Given the description of an element on the screen output the (x, y) to click on. 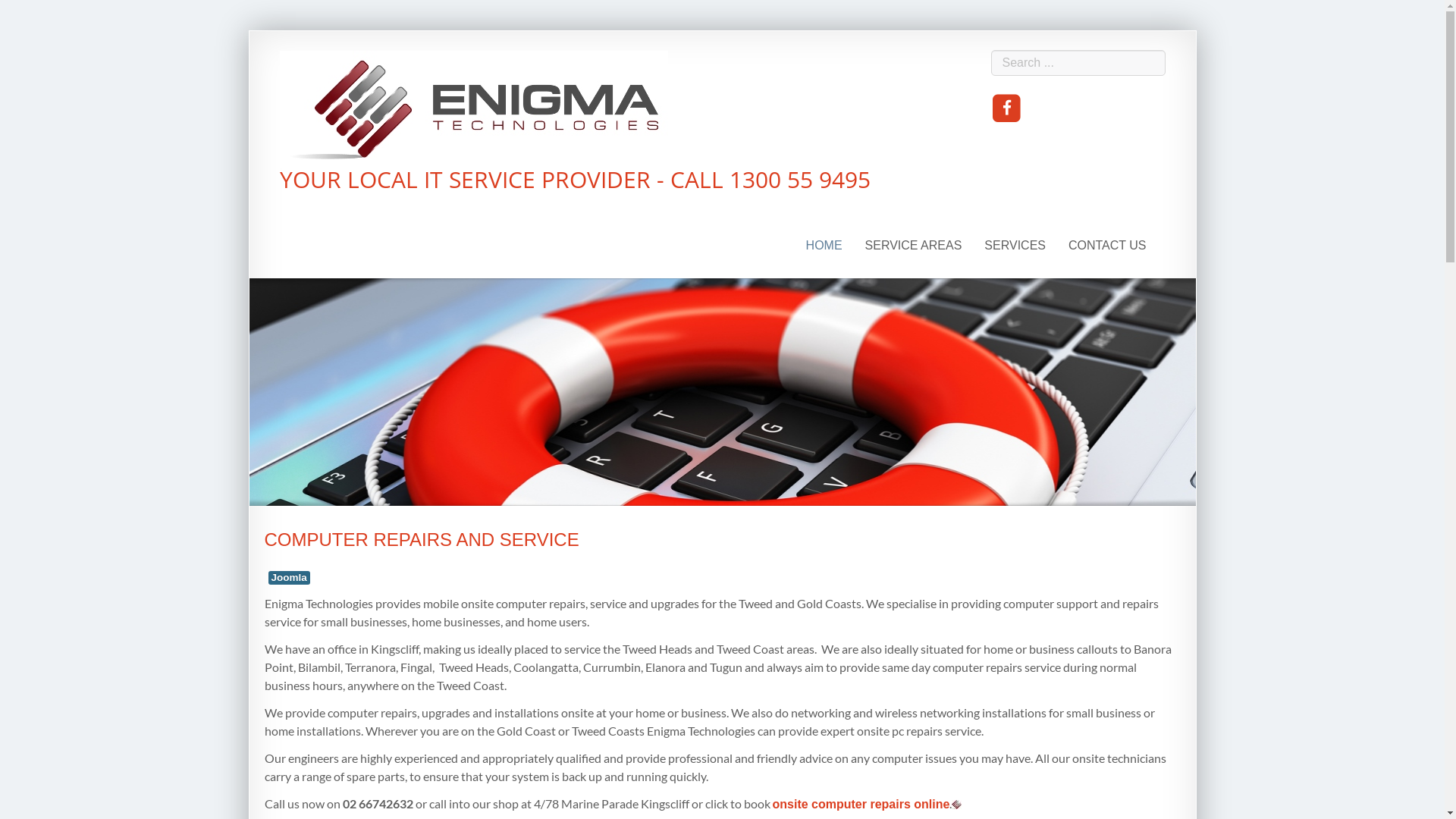
Joomla Element type: text (289, 577)
COMPUTER REPAIRS AND SERVICE Element type: text (420, 539)
HOME Element type: text (823, 245)
Find me on Facebook Element type: hover (1006, 108)
SERVICES Element type: text (1014, 245)
onsite computer repairs online Element type: text (860, 803)
YOUR LOCAL IT SERVICE PROVIDER - CALL 1300 55 9495 Element type: text (573, 120)
SERVICE AREAS Element type: text (913, 245)
CONTACT US Element type: text (1107, 245)
